Given the description of an element on the screen output the (x, y) to click on. 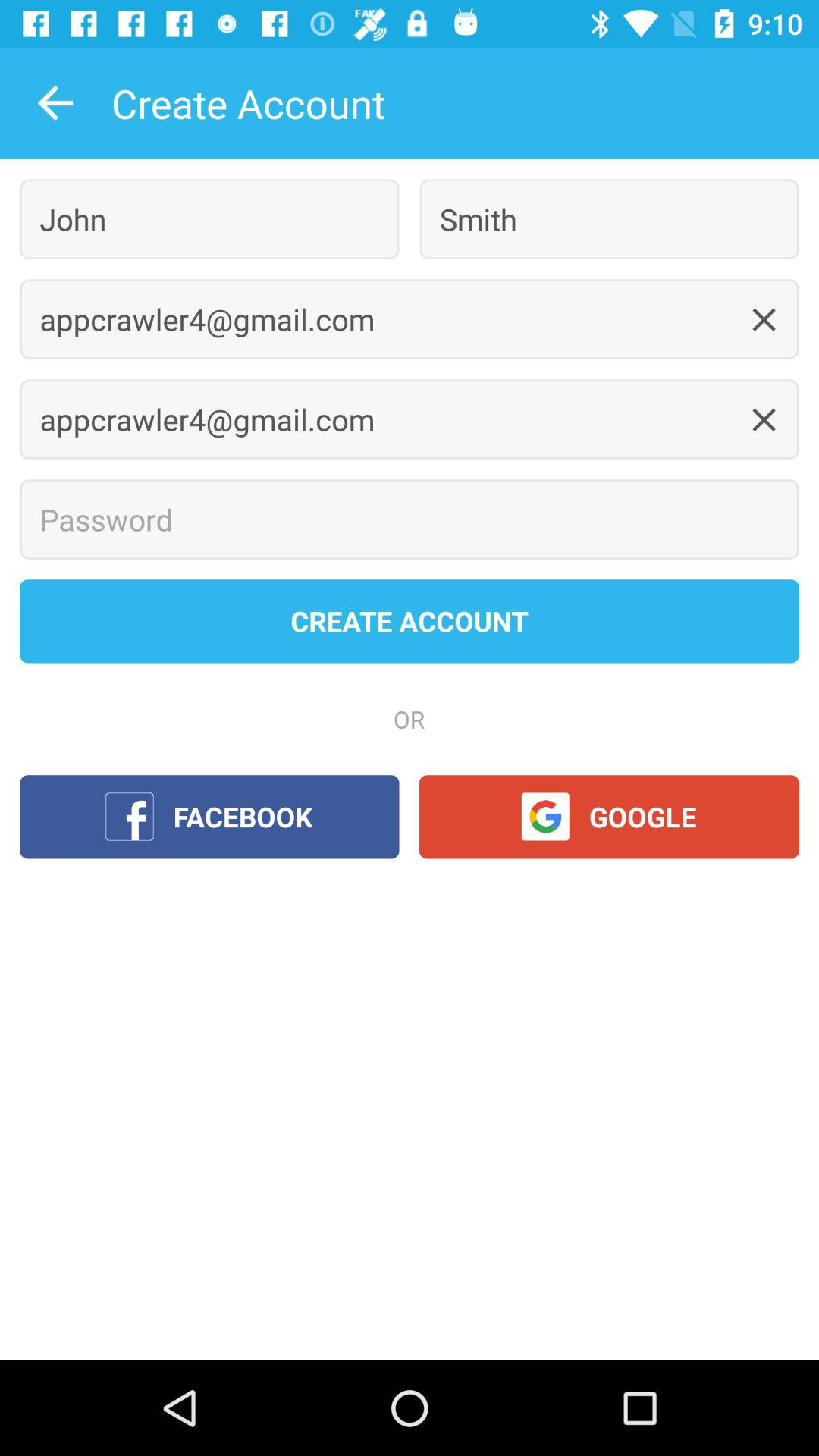
tap icon at the top right corner (609, 219)
